Given the description of an element on the screen output the (x, y) to click on. 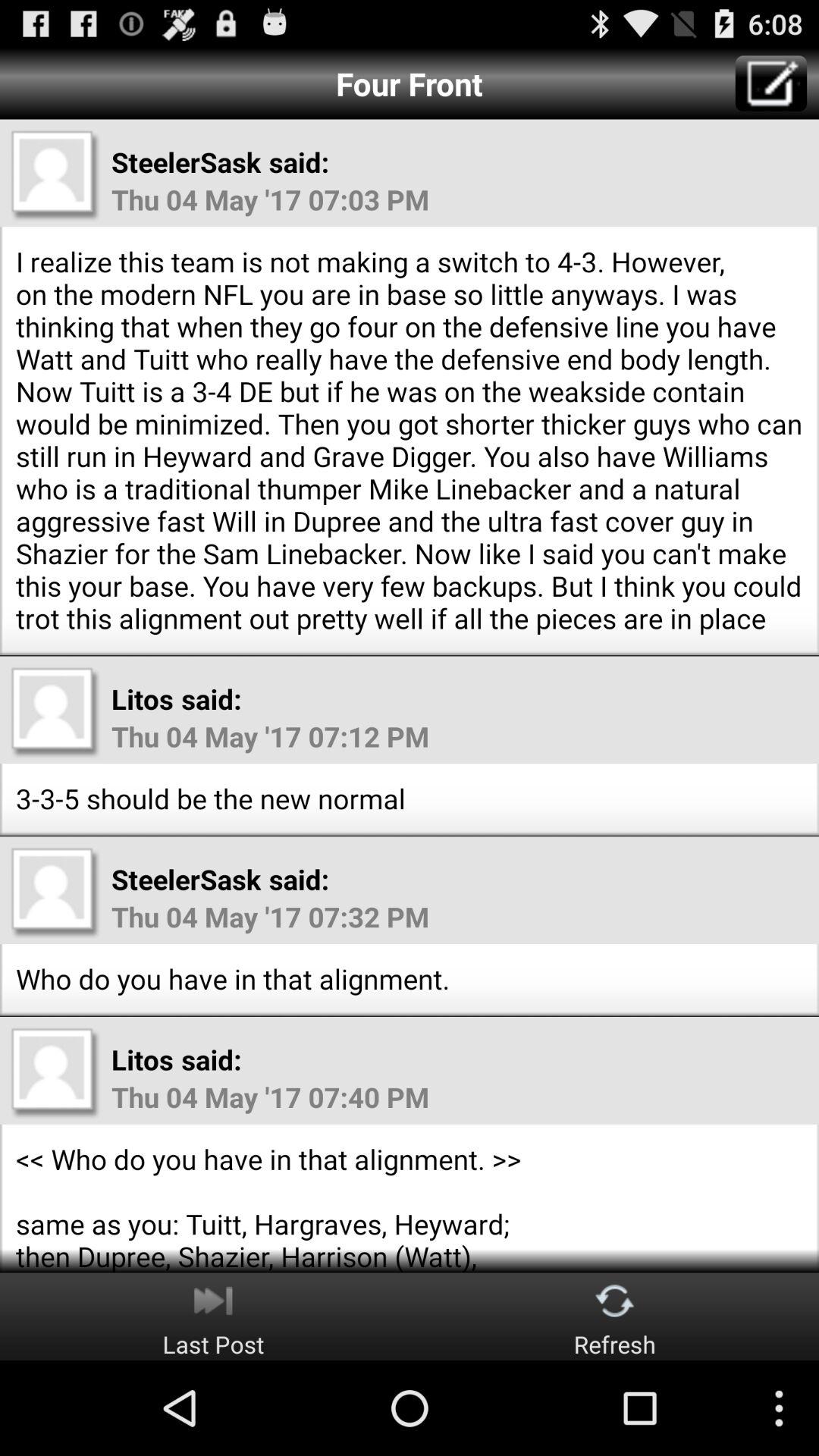
choose the refresh at the bottom right corner (615, 1316)
